Given the description of an element on the screen output the (x, y) to click on. 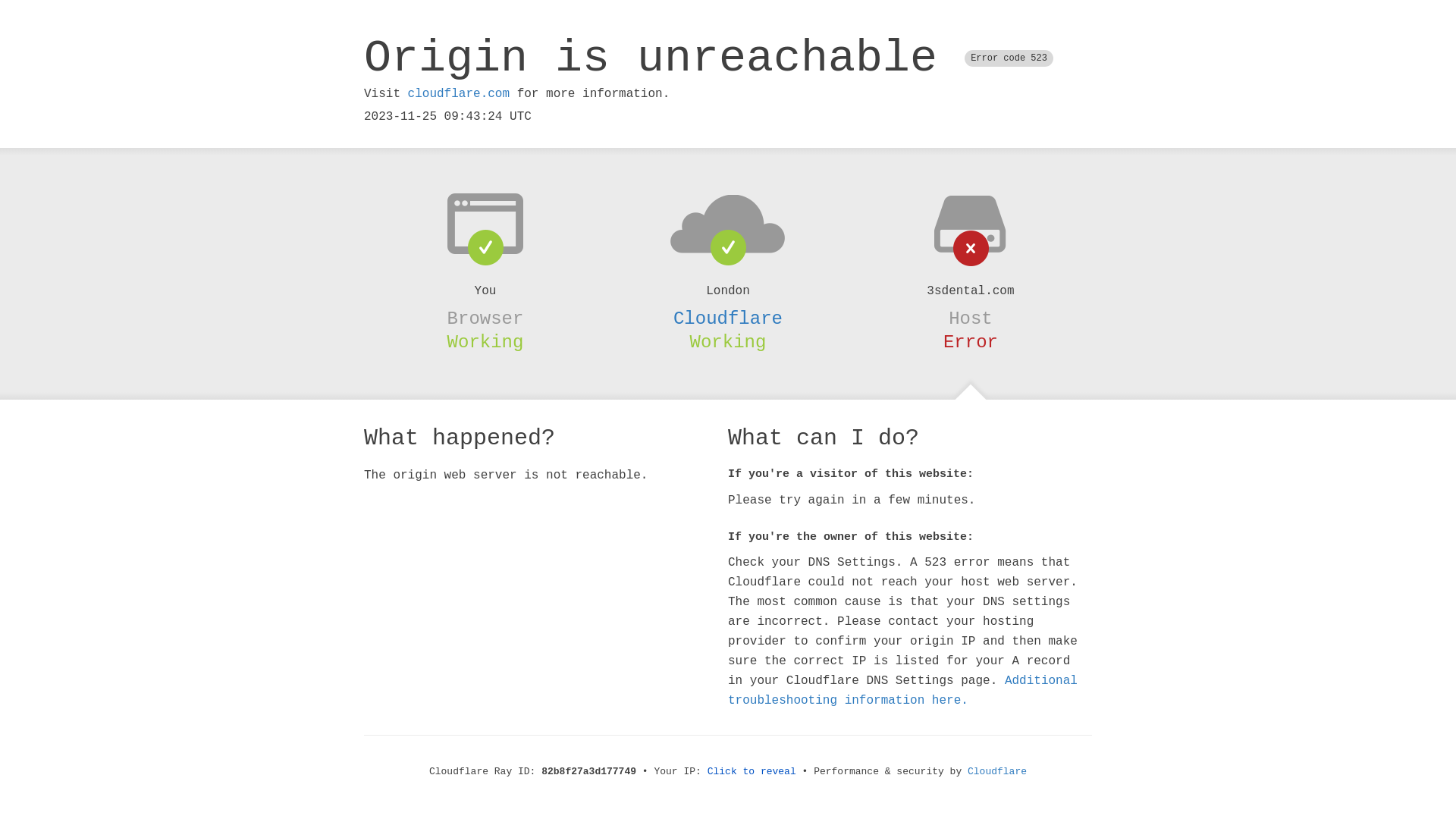
Cloudflare Element type: text (996, 771)
Cloudflare Element type: text (727, 318)
Click to reveal Element type: text (751, 771)
cloudflare.com Element type: text (458, 93)
Additional troubleshooting information here. Element type: text (902, 690)
